Given the description of an element on the screen output the (x, y) to click on. 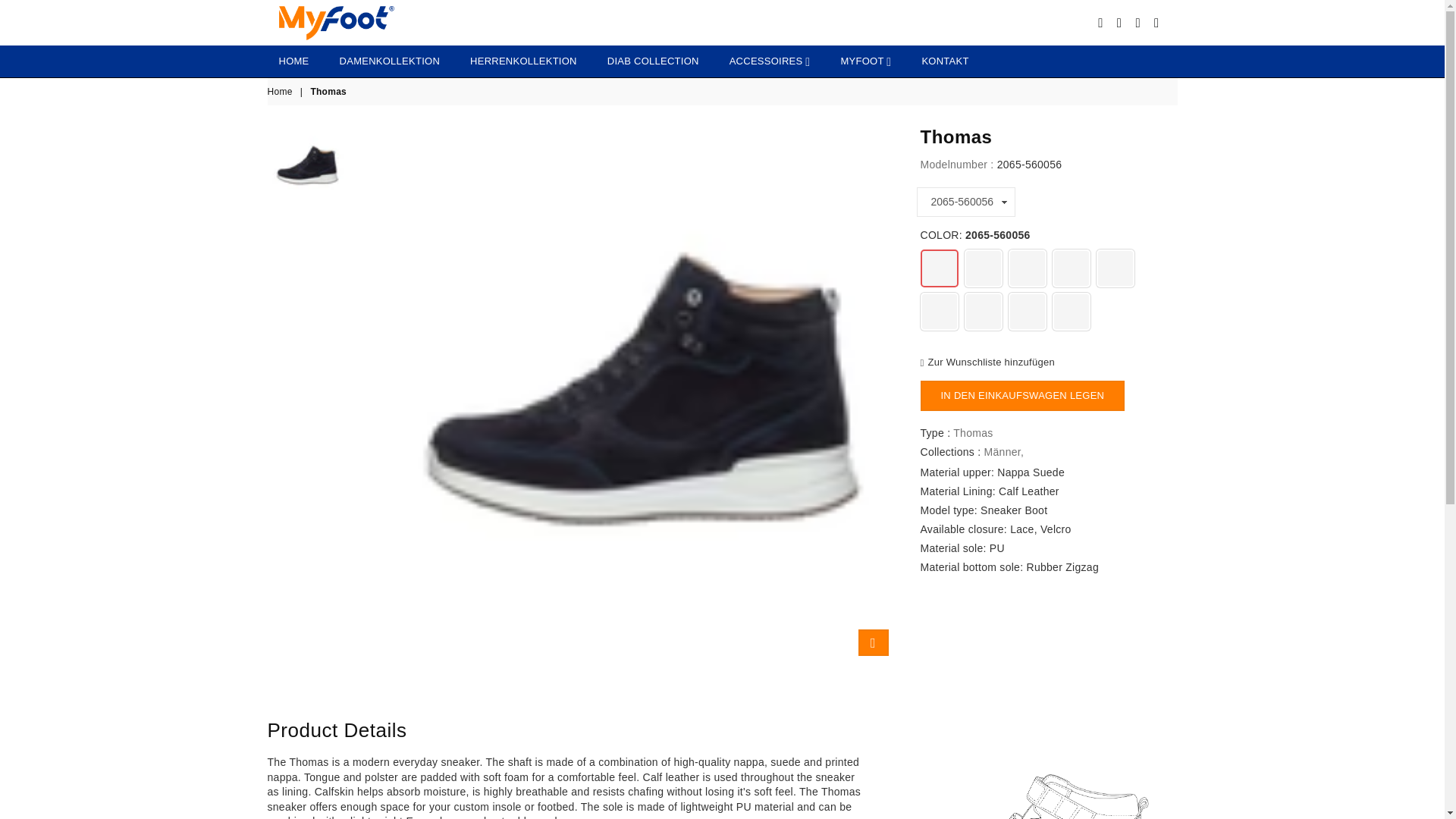
HOME (293, 60)
KONTAKT (944, 60)
DAMENKOLLEKTION (390, 60)
MyFoot Shop (442, 22)
DIAB COLLECTION (652, 60)
ACCESSOIRES (769, 60)
MYFOOT (865, 60)
HERRENKOLLEKTION (523, 60)
